Given the description of an element on the screen output the (x, y) to click on. 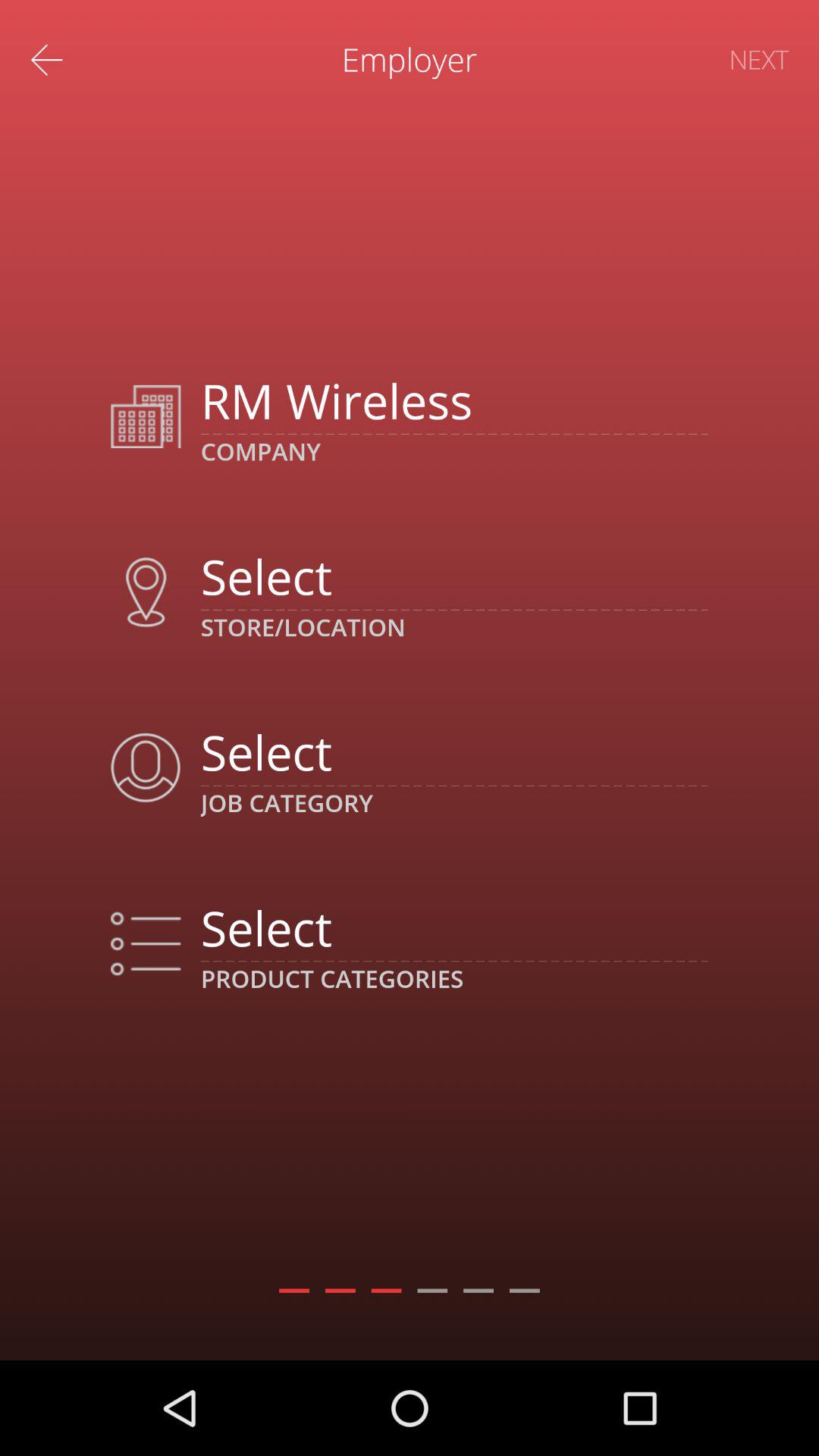
go to select (454, 927)
